Given the description of an element on the screen output the (x, y) to click on. 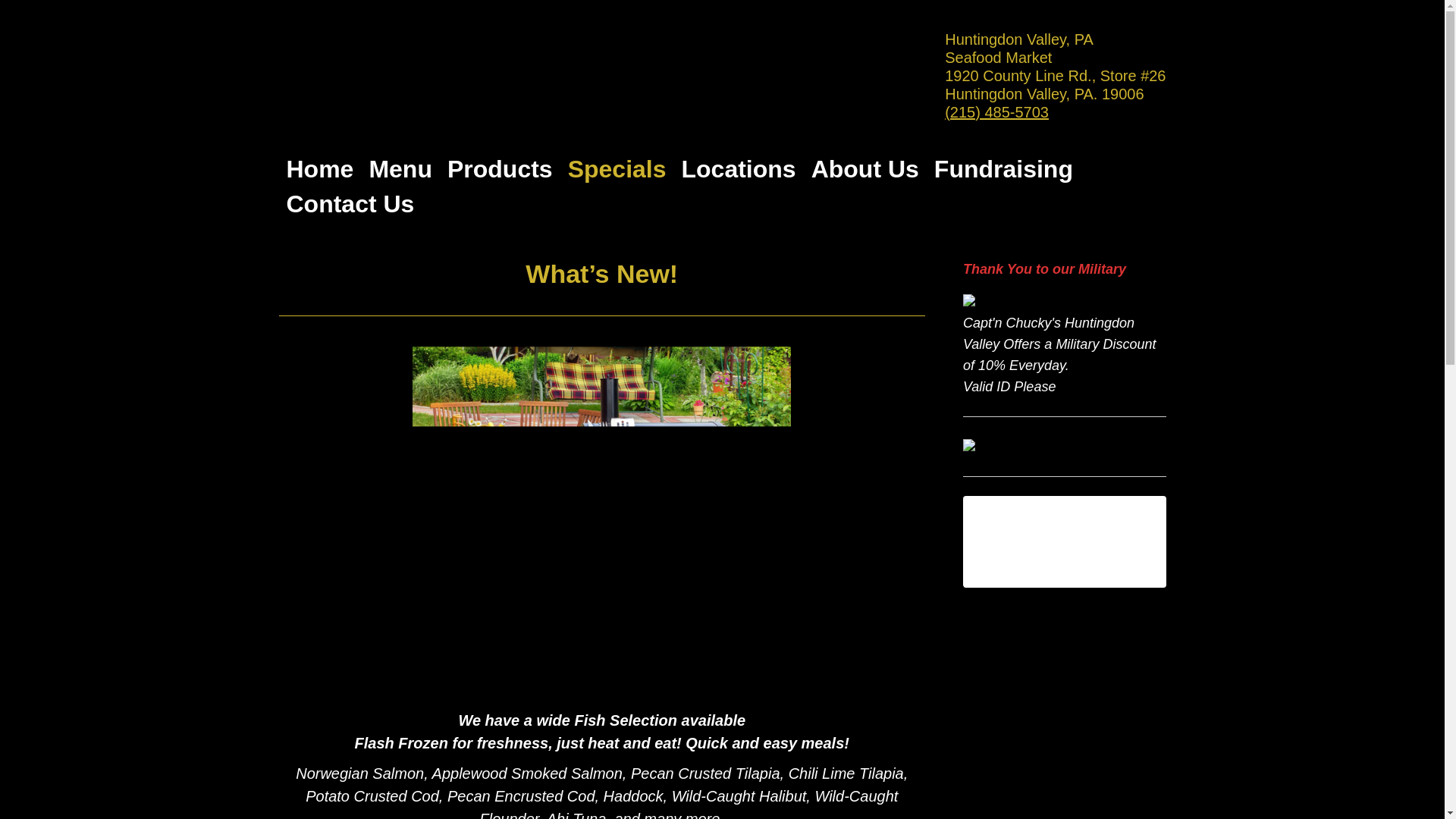
Products (499, 168)
Locations (737, 168)
About Us (864, 168)
Menu (400, 168)
Contact Us (350, 203)
Fundraising (1003, 168)
Home (320, 168)
Specials (617, 168)
